Given the description of an element on the screen output the (x, y) to click on. 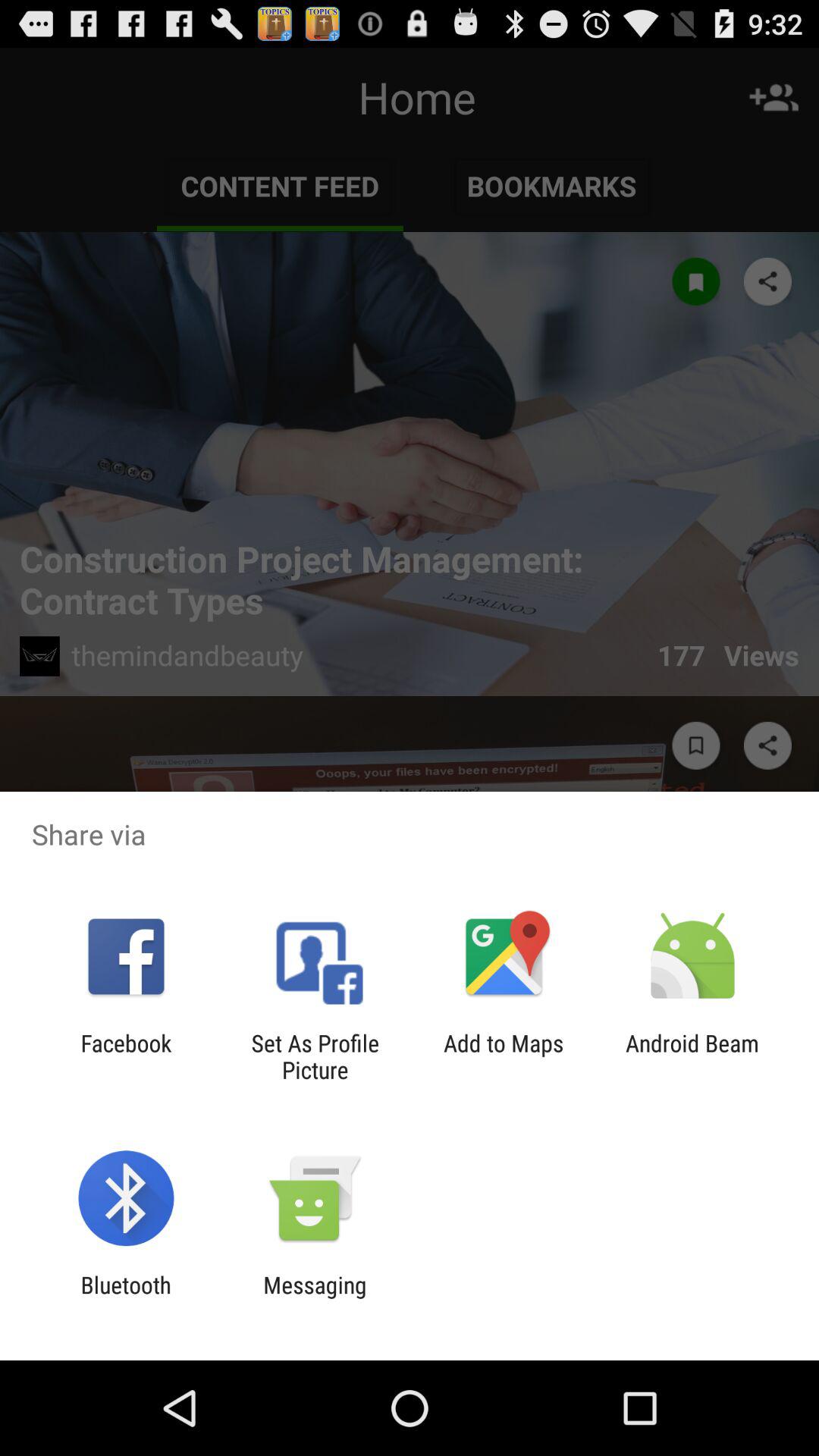
flip until messaging icon (314, 1298)
